Given the description of an element on the screen output the (x, y) to click on. 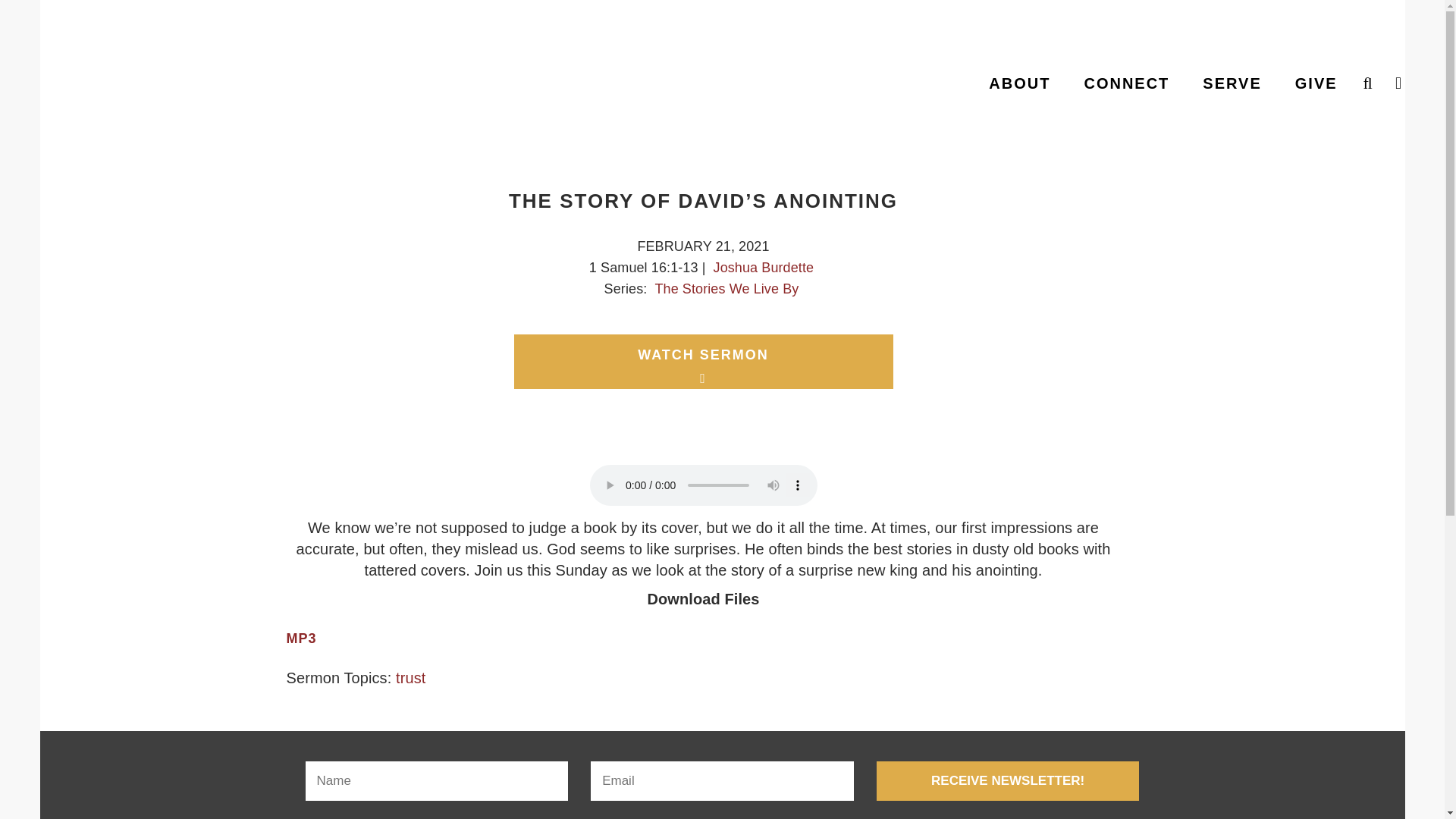
Joshua Burdette (763, 267)
MP3 (301, 638)
The Stories We Live By (725, 288)
trust (410, 677)
RECEIVE NEWSLETTER! (1008, 780)
